Given the description of an element on the screen output the (x, y) to click on. 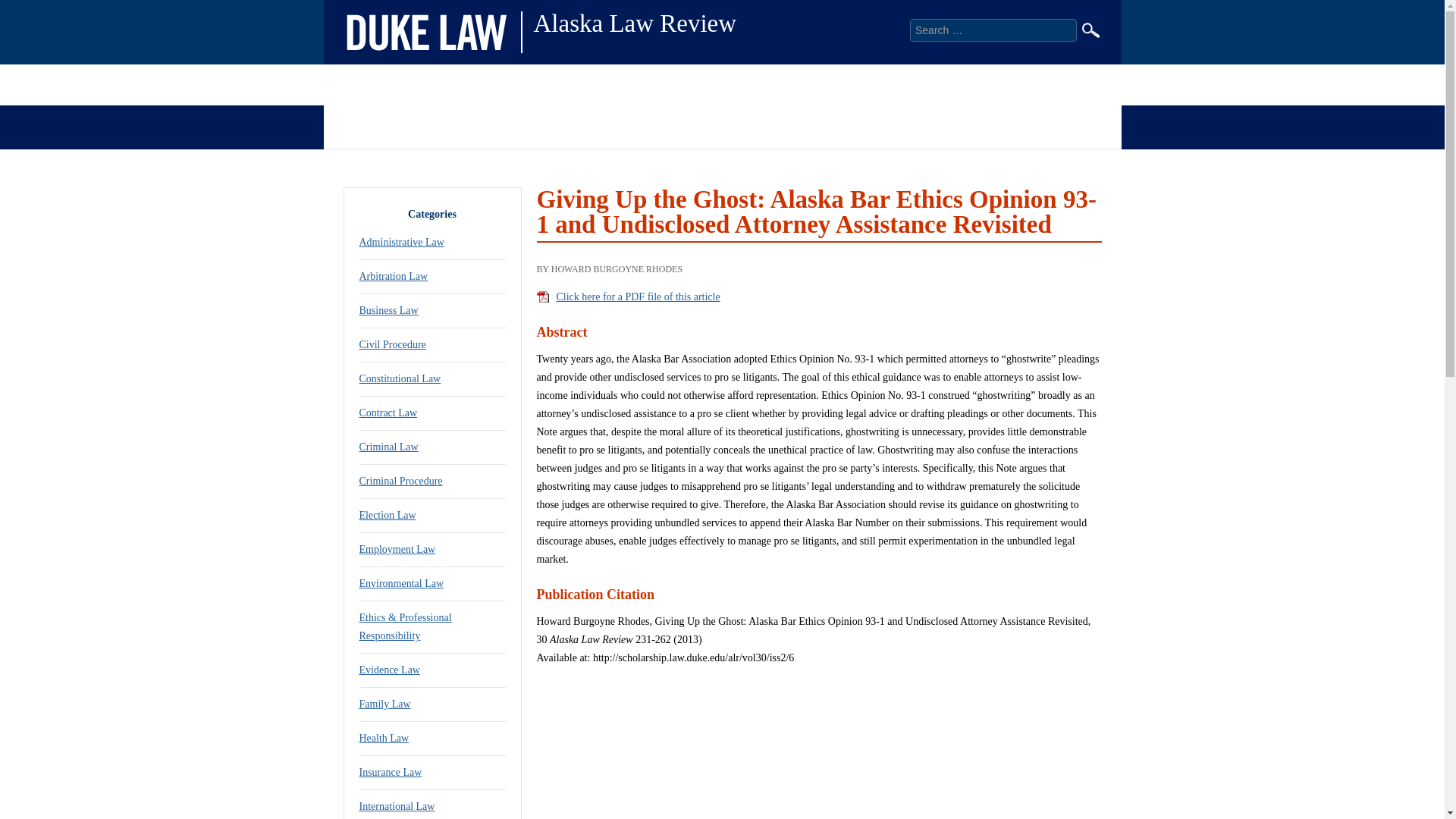
ARCHIVE (601, 85)
SUBSCRIPTIONS (881, 85)
Election Law (387, 514)
Criminal Procedure (400, 480)
Evidence Law (389, 669)
YEAR-IN-REVIEW (730, 85)
Business Law (389, 310)
Submissions (699, 125)
HOME (364, 85)
International Law (397, 806)
